Given the description of an element on the screen output the (x, y) to click on. 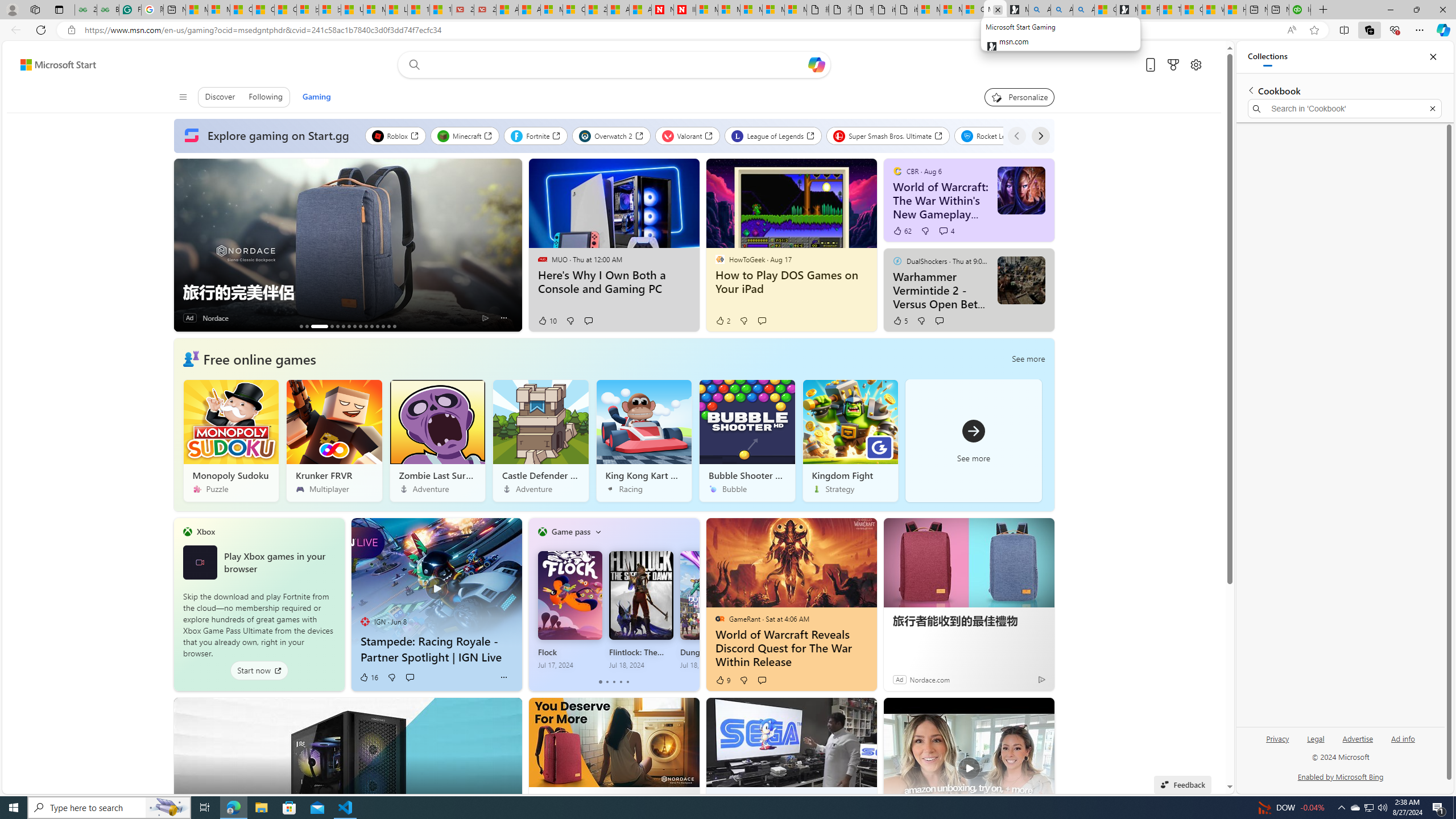
Alabama high school quarterback dies - Search Videos (1083, 9)
Intuit QuickBooks Online - Quickbooks (1300, 9)
Class: previous-flipper (533, 604)
Start now (259, 670)
GameRant (719, 618)
IGN (364, 621)
tab-1 (606, 682)
